Given the description of an element on the screen output the (x, y) to click on. 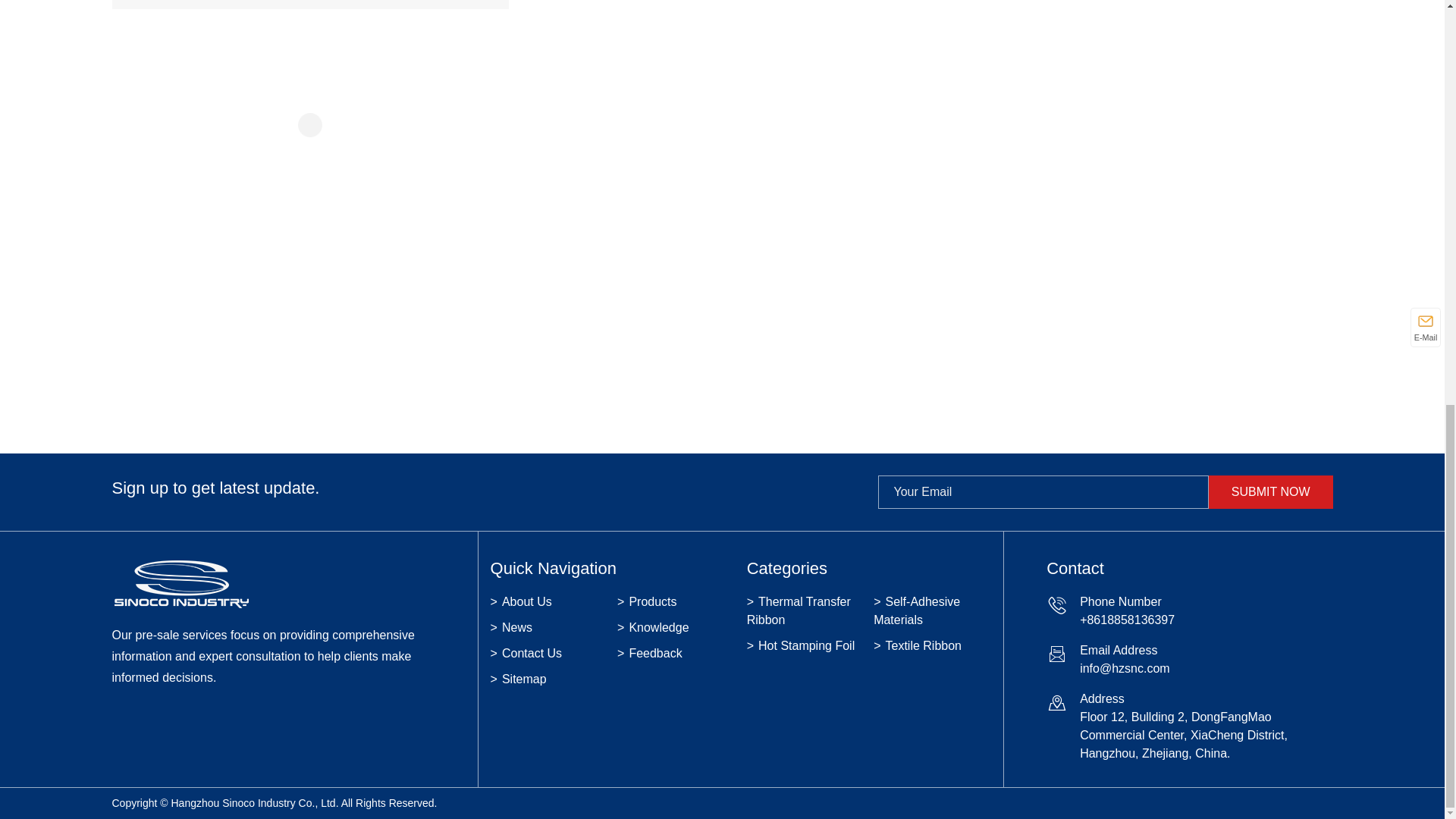
Submit (1270, 491)
Textile Ribbon (310, 4)
About Us (549, 601)
Sitemap (549, 679)
Contact Us (549, 653)
Knowledge (676, 628)
Feedback (676, 653)
SUBMIT NOW (1270, 491)
Products (676, 601)
News (549, 628)
